Given the description of an element on the screen output the (x, y) to click on. 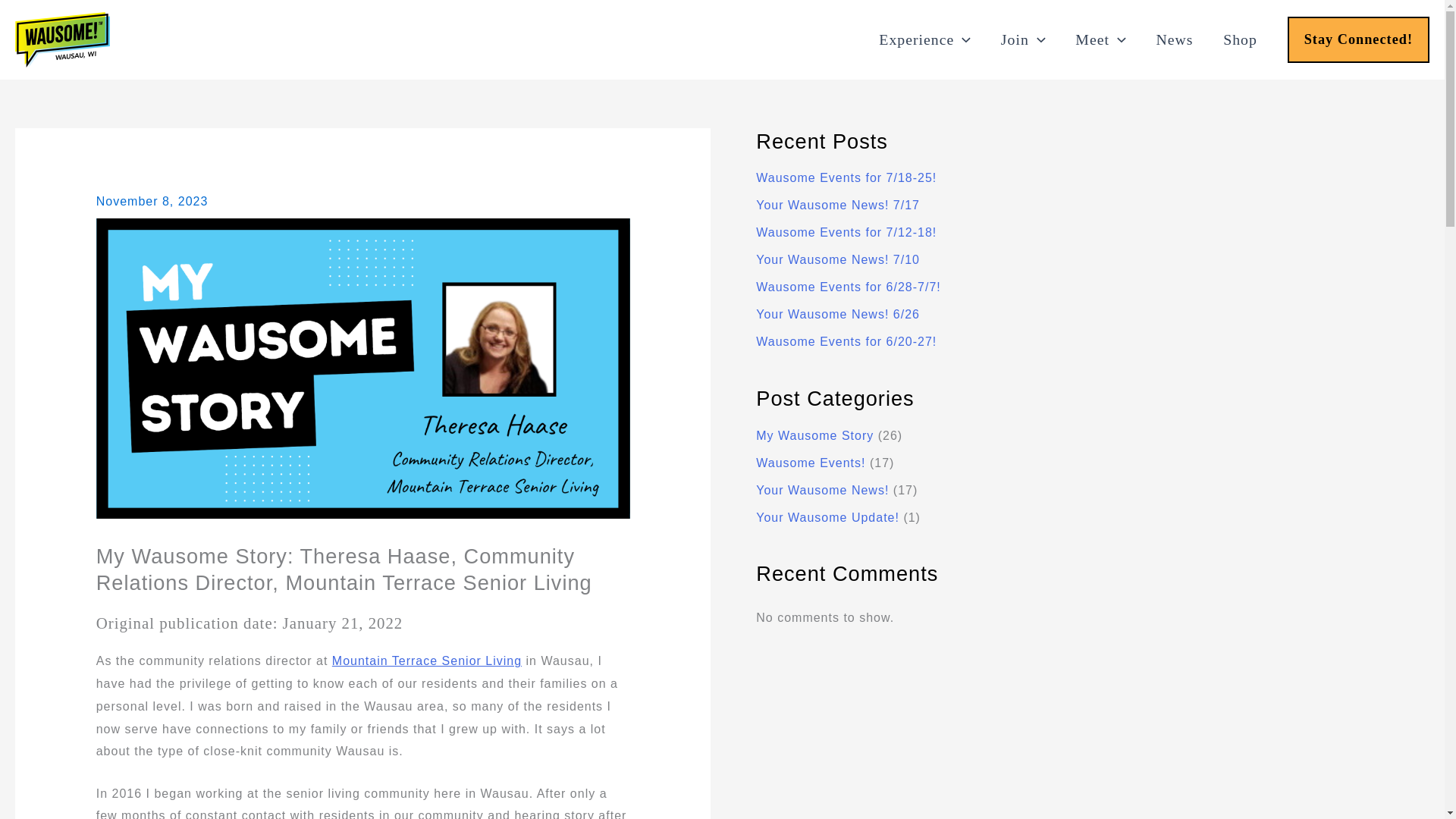
Experience (925, 38)
Meet (1099, 38)
Shop (1239, 38)
Join (1022, 38)
News (1174, 38)
Stay Connected! (1358, 39)
